Given the description of an element on the screen output the (x, y) to click on. 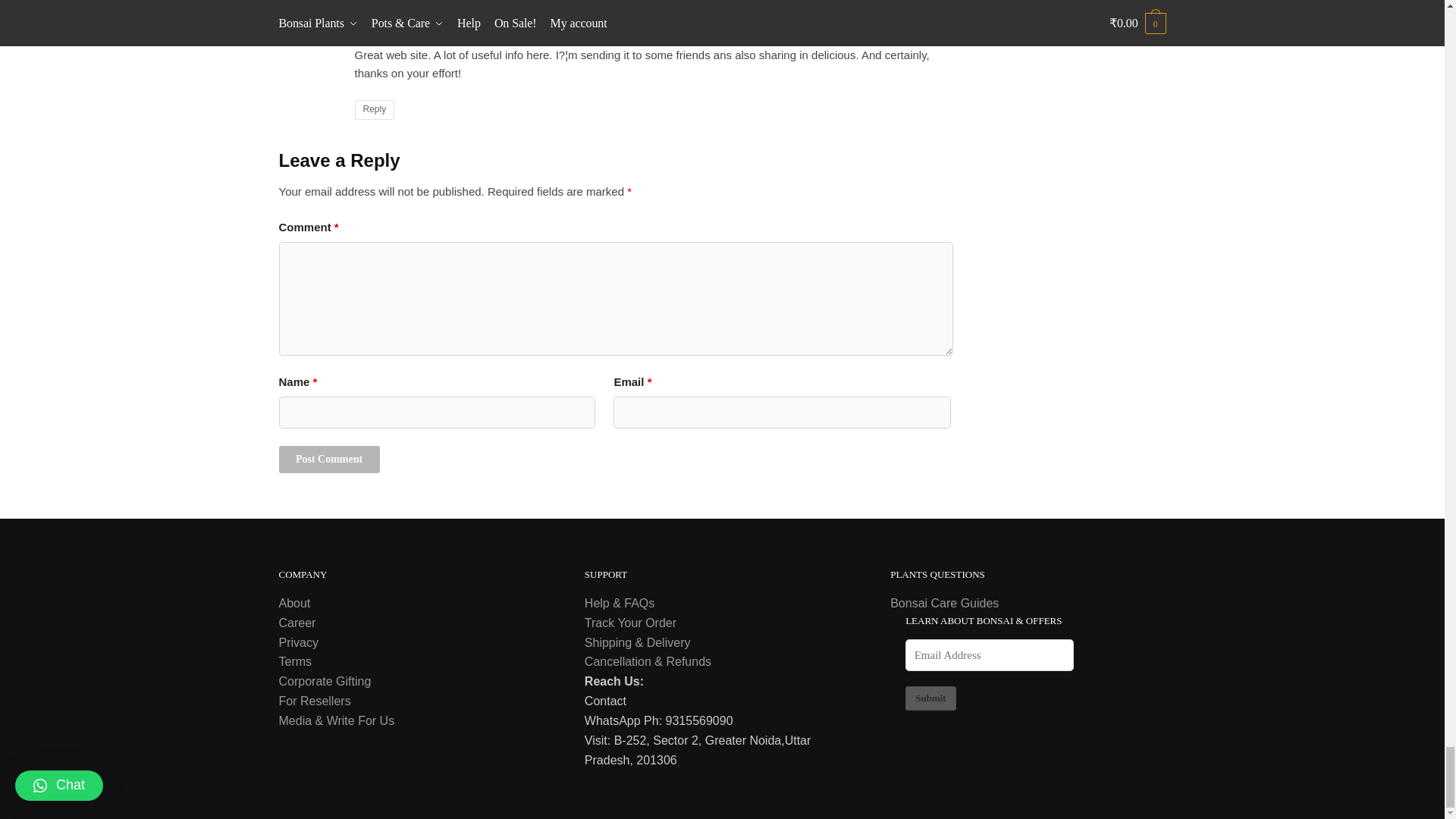
Post Comment (329, 459)
